Given the description of an element on the screen output the (x, y) to click on. 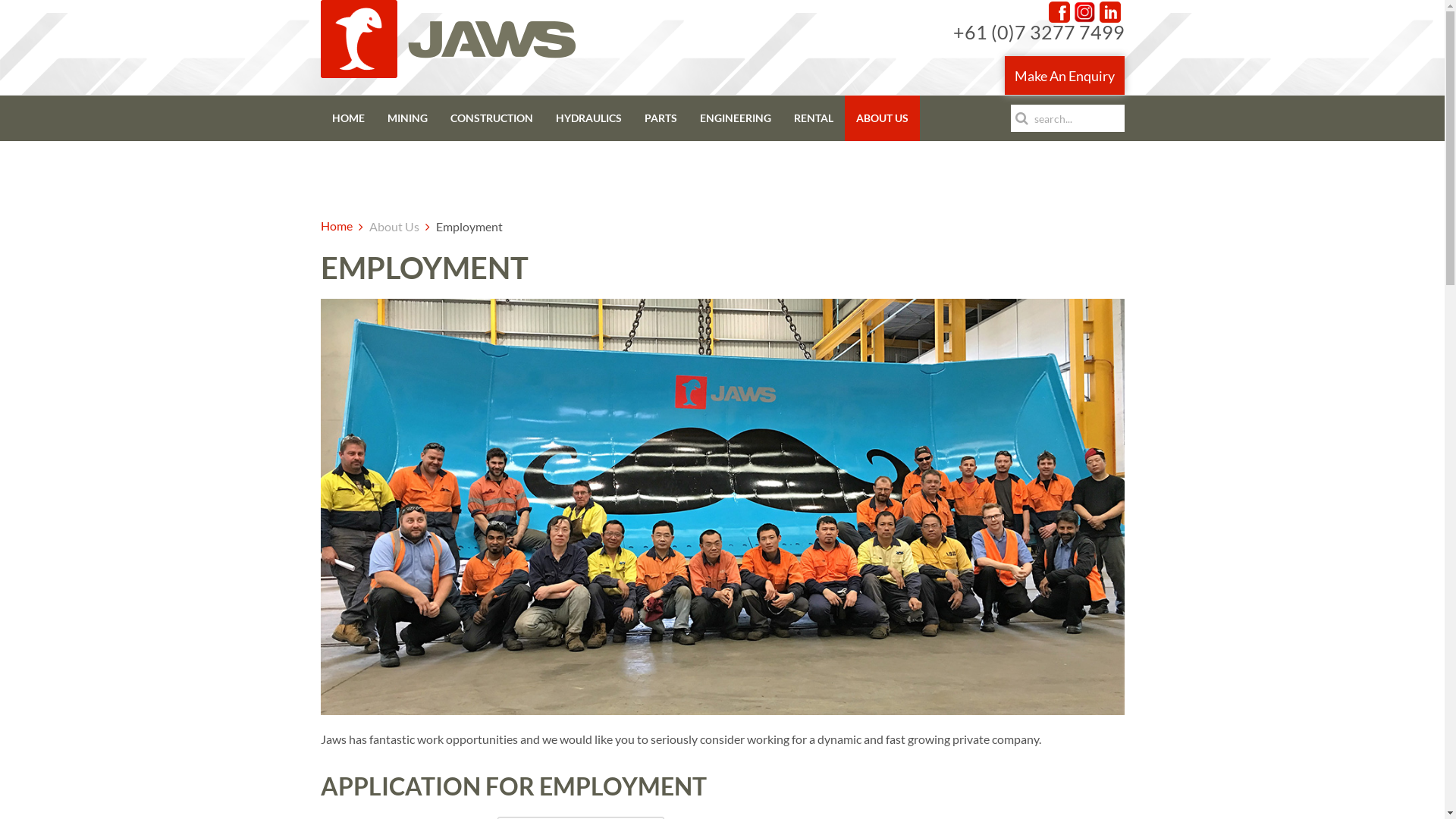
HOME Element type: text (347, 118)
+61 (0)7 3277 7499 Element type: text (1037, 31)
Make An Enquiry Element type: text (1063, 75)
MINING Element type: text (407, 118)
Home Element type: text (335, 225)
ABOUT US Element type: text (881, 118)
ENGINEERING Element type: text (735, 118)
CONSTRUCTION Element type: text (490, 118)
RENTAL Element type: text (813, 118)
HYDRAULICS Element type: text (588, 118)
PARTS Element type: text (659, 118)
